Given the description of an element on the screen output the (x, y) to click on. 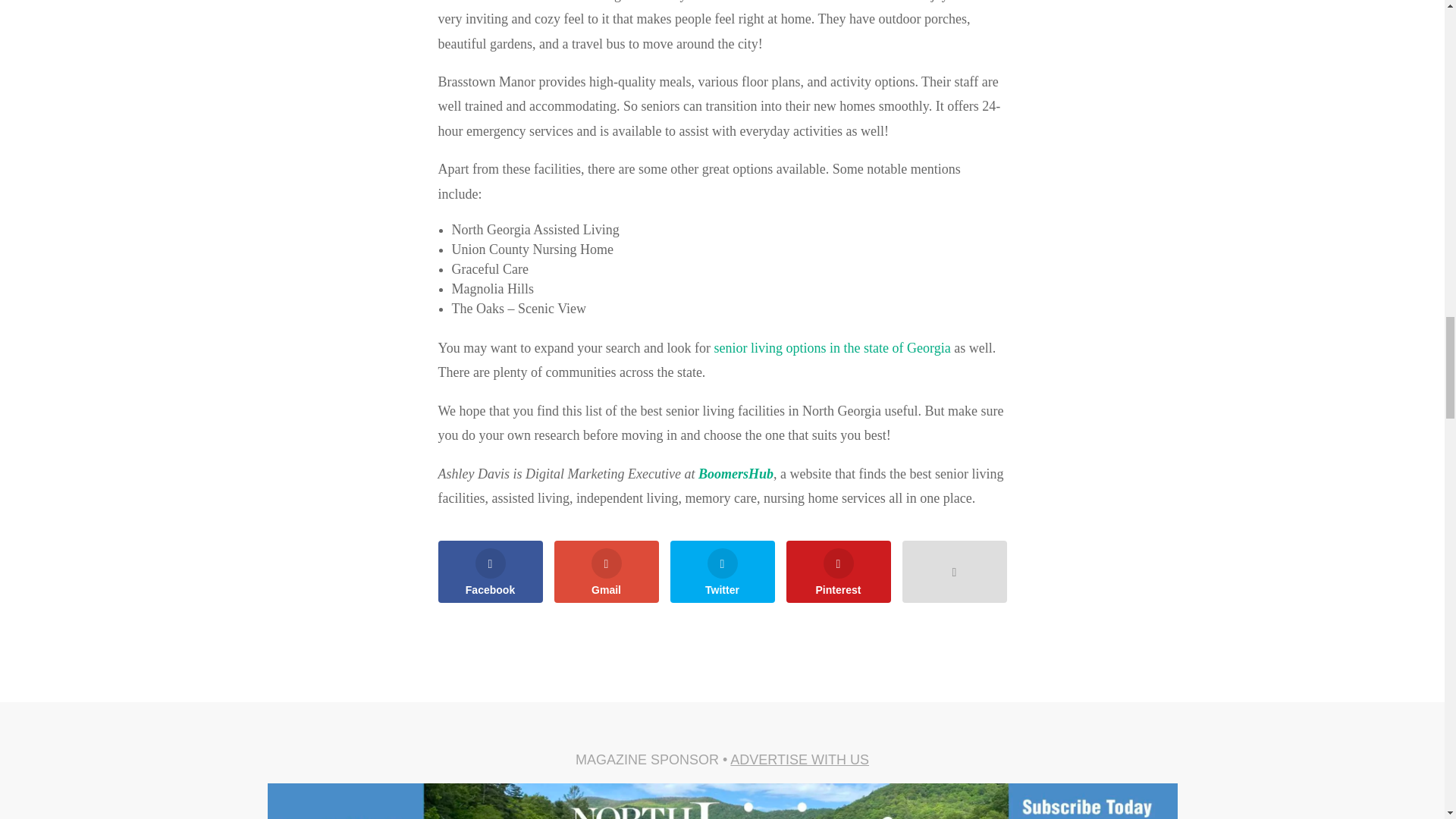
senior living options in the state of Georgia (832, 347)
Facebook (490, 571)
Pinterest (837, 571)
BoomersHub (735, 473)
Twitter (721, 571)
Gmail (605, 571)
